Given the description of an element on the screen output the (x, y) to click on. 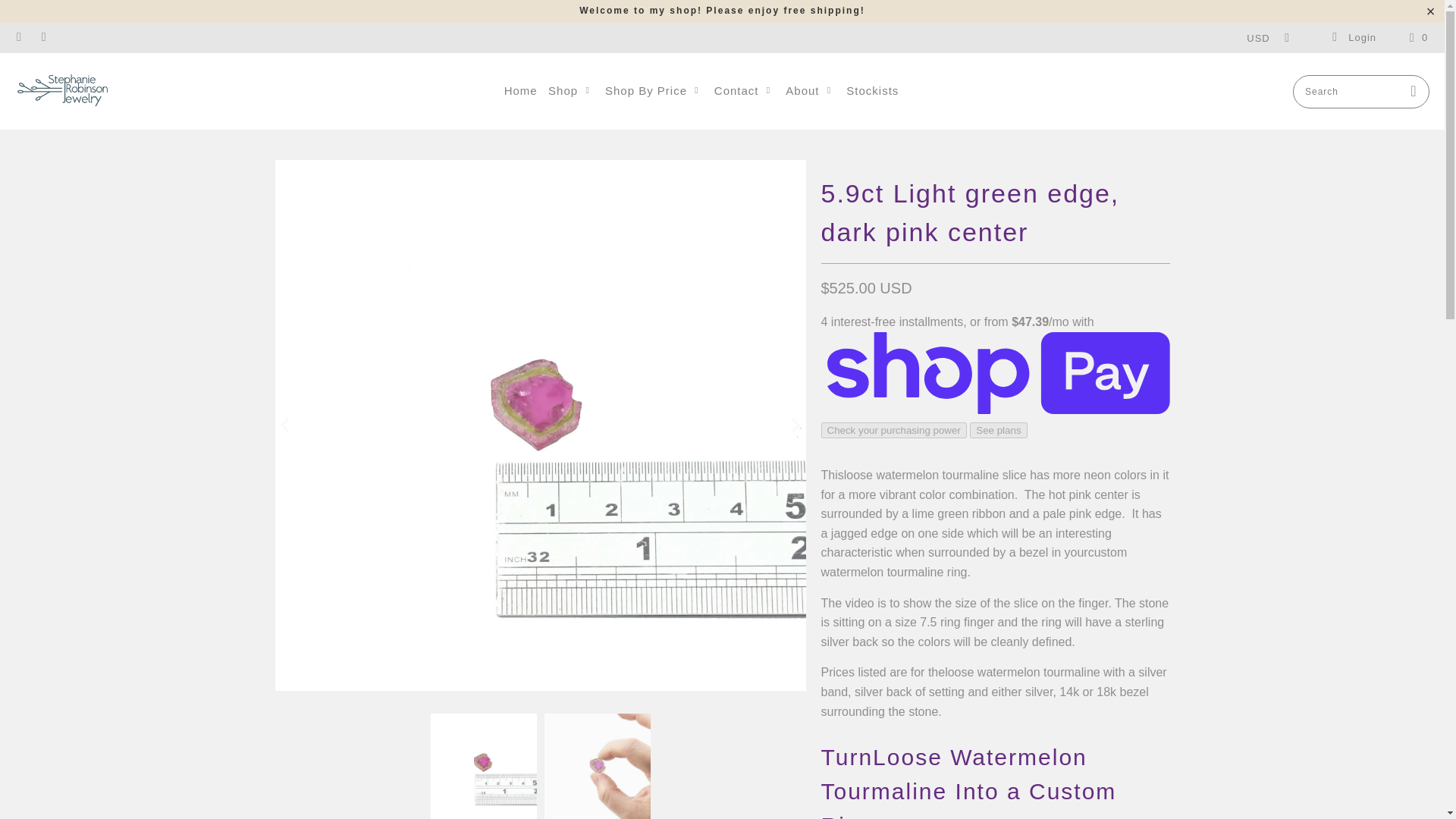
Stephanie Robinson Jewelry on Instagram (42, 37)
Stephanie Robinson Jewelry (62, 91)
Stephanie Robinson Jewelry on Facebook (17, 37)
My Account  (1353, 37)
